Given the description of an element on the screen output the (x, y) to click on. 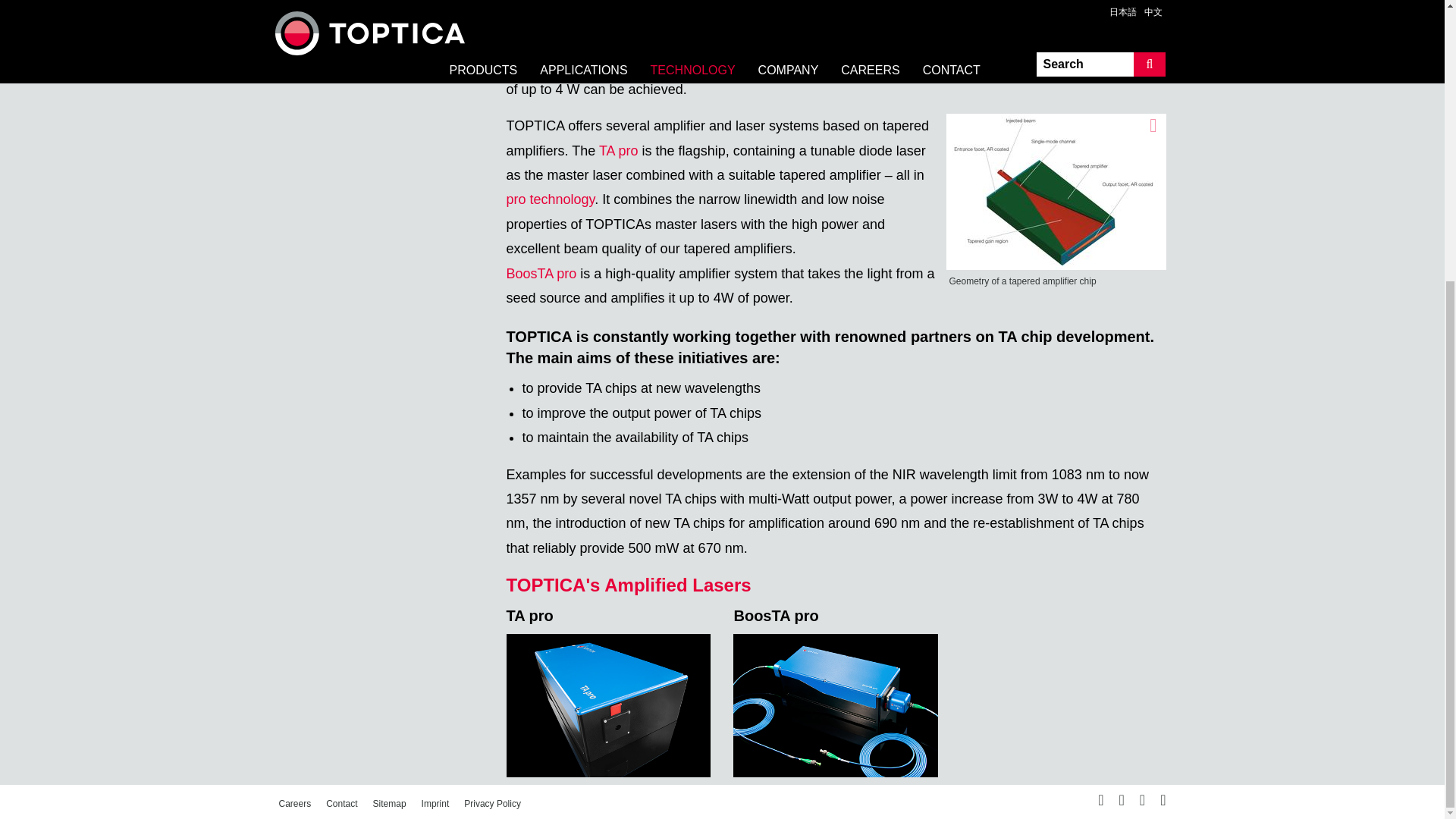
TOPTICA Python Laser SDK (351, 48)
TOPTICA Geometry of a tapered amplifier chip (1056, 191)
TA-pro (608, 705)
TOPTICA Proprietary (332, 17)
